Given the description of an element on the screen output the (x, y) to click on. 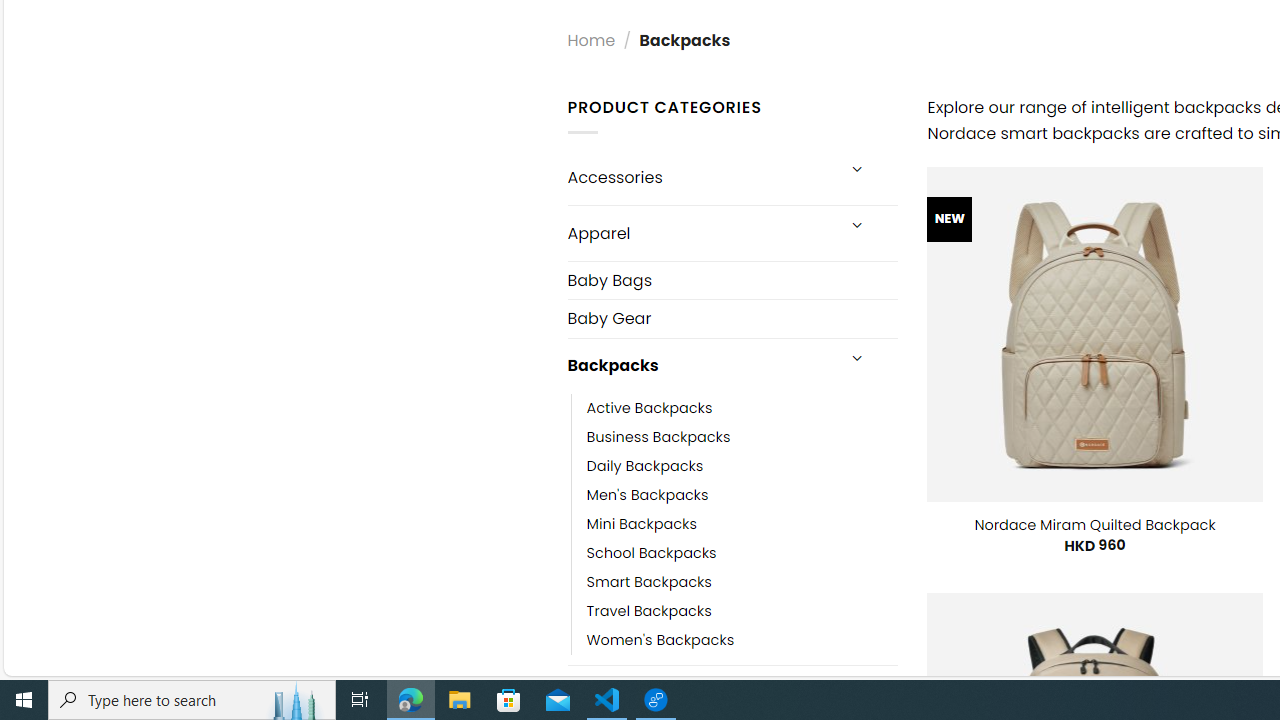
Bags (700, 692)
Active Backpacks (742, 408)
Mini Backpacks (641, 524)
